Given the description of an element on the screen output the (x, y) to click on. 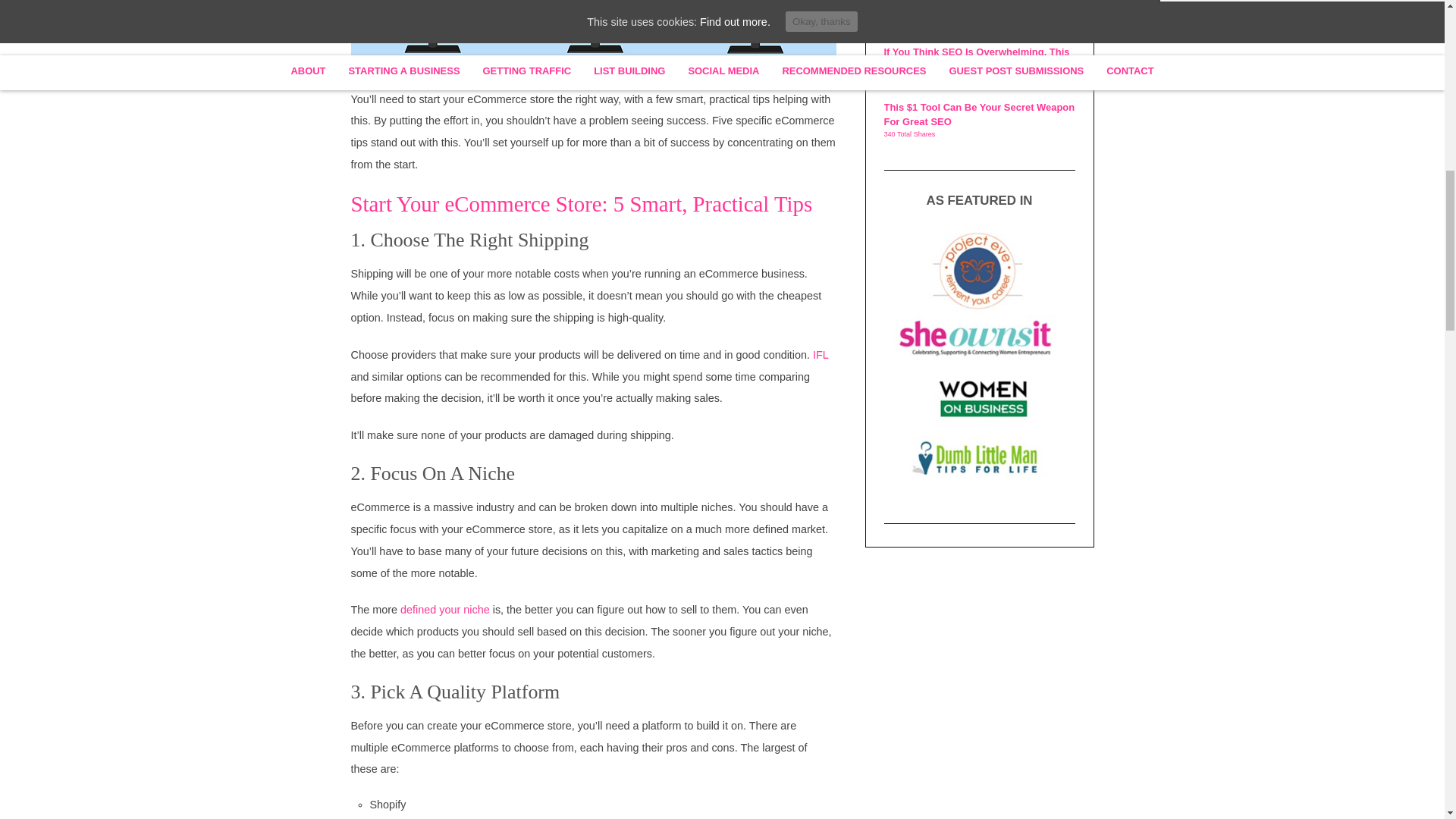
IFL (820, 354)
defined your niche (444, 609)
